Given the description of an element on the screen output the (x, y) to click on. 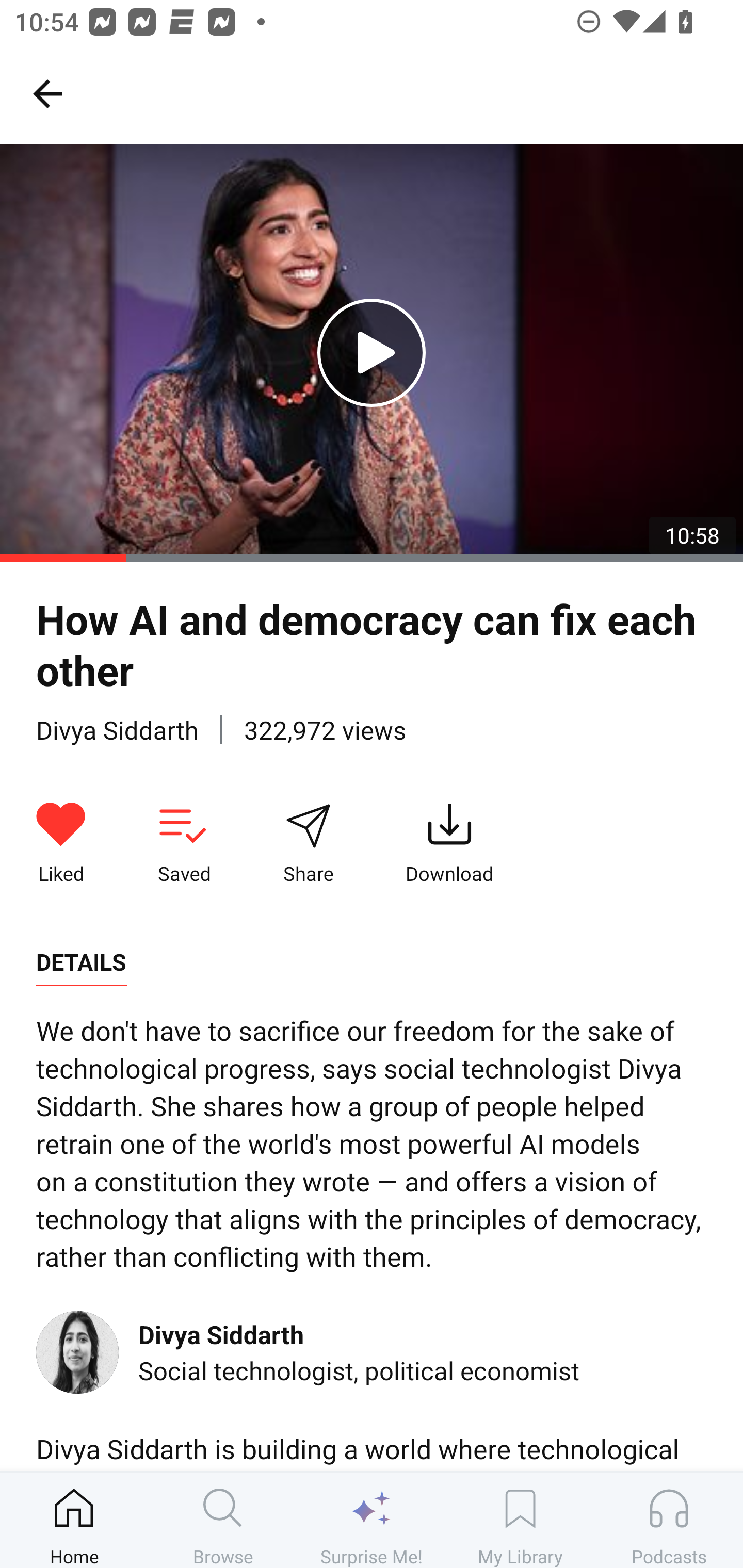
History, back (47, 92)
Liked (60, 843)
Saved (183, 843)
Share (308, 843)
Download (449, 843)
DETAILS (80, 962)
Home (74, 1520)
Browse (222, 1520)
Surprise Me! (371, 1520)
My Library (519, 1520)
Podcasts (668, 1520)
